Given the description of an element on the screen output the (x, y) to click on. 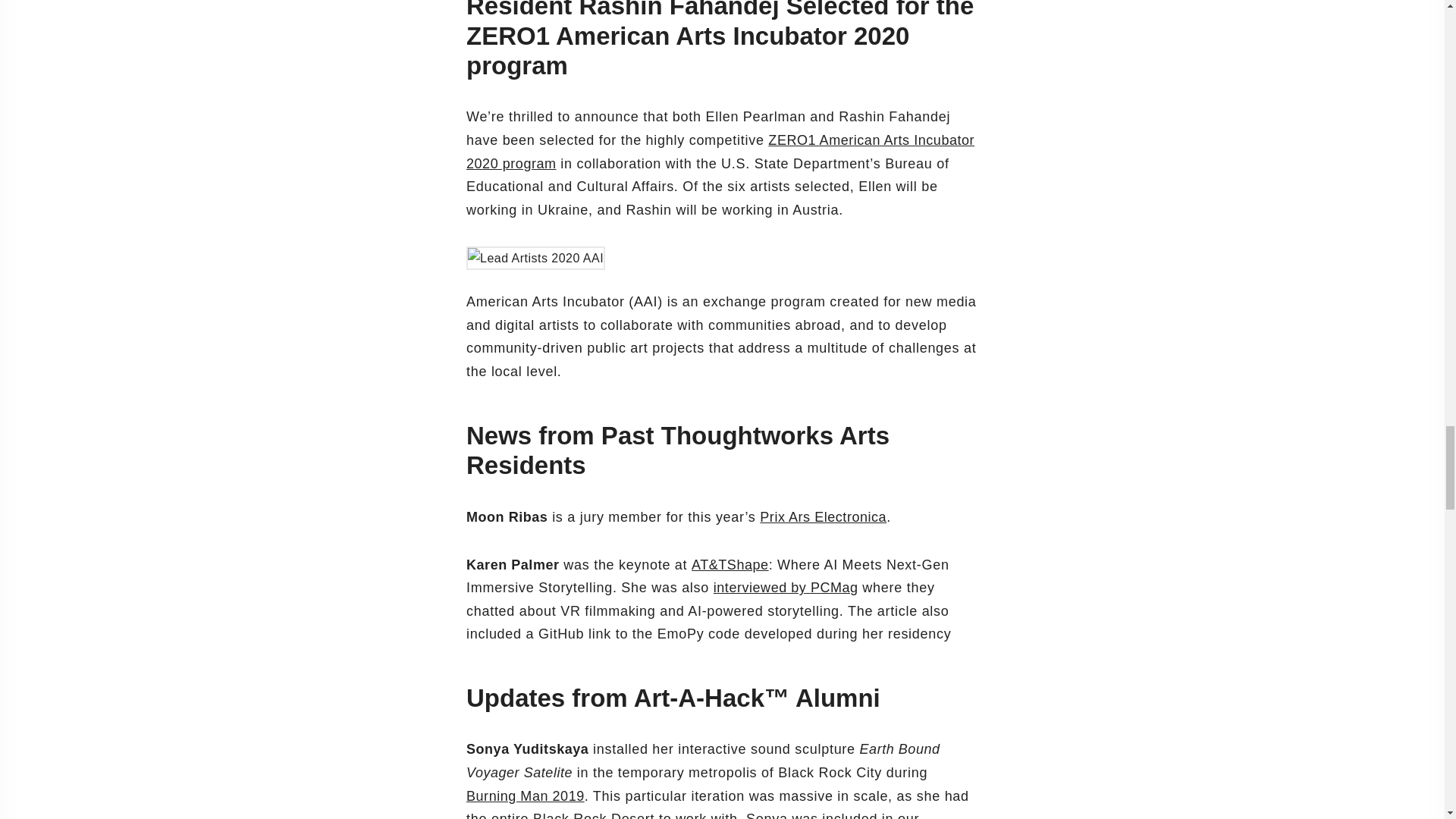
interviewed by PCMag (786, 587)
ZERO1 American Arts Incubator 2020 program (719, 151)
Burning Man 2019 (525, 795)
Prix Ars Electronica (823, 516)
